Given the description of an element on the screen output the (x, y) to click on. 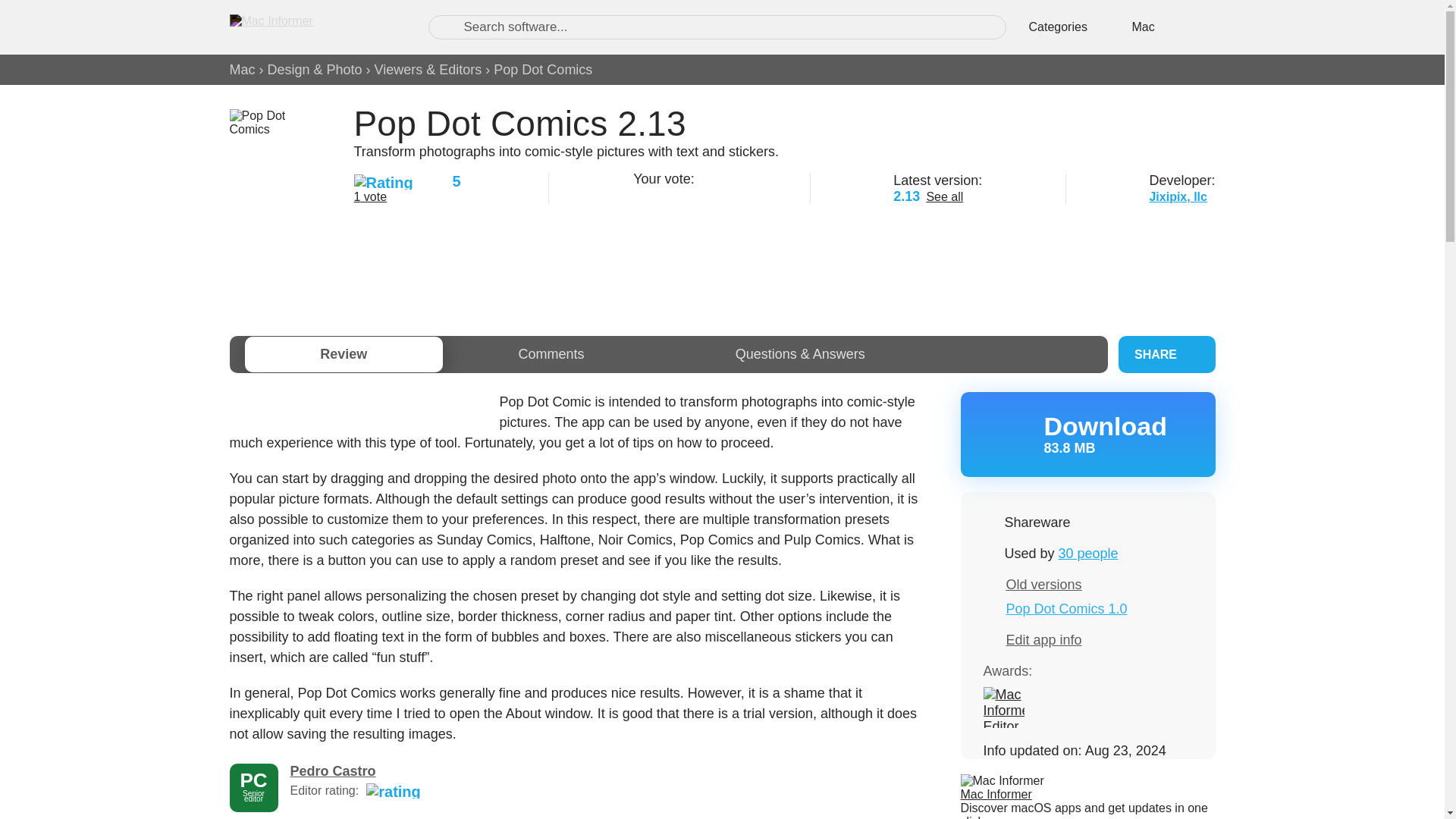
Mac (241, 69)
Review (343, 354)
Software downloads and reviews (312, 26)
5 (716, 193)
Editors' choice award (1002, 707)
Search (447, 27)
1 vote (370, 196)
1 (640, 193)
